Given the description of an element on the screen output the (x, y) to click on. 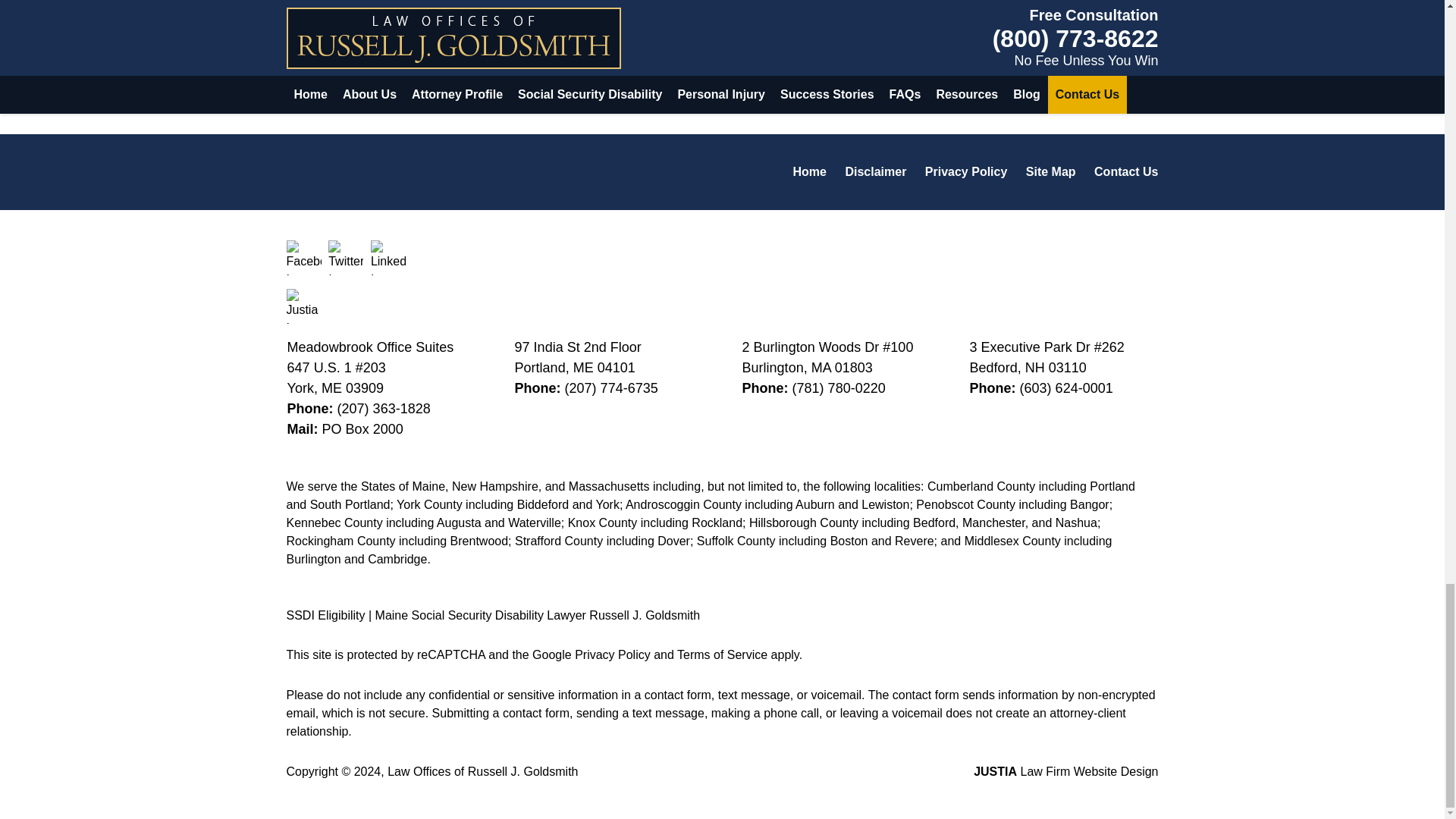
SSDI (604, 23)
online (612, 64)
LinkedIn (388, 257)
Twitter (345, 257)
Facebook (303, 257)
Justia (303, 306)
